Given the description of an element on the screen output the (x, y) to click on. 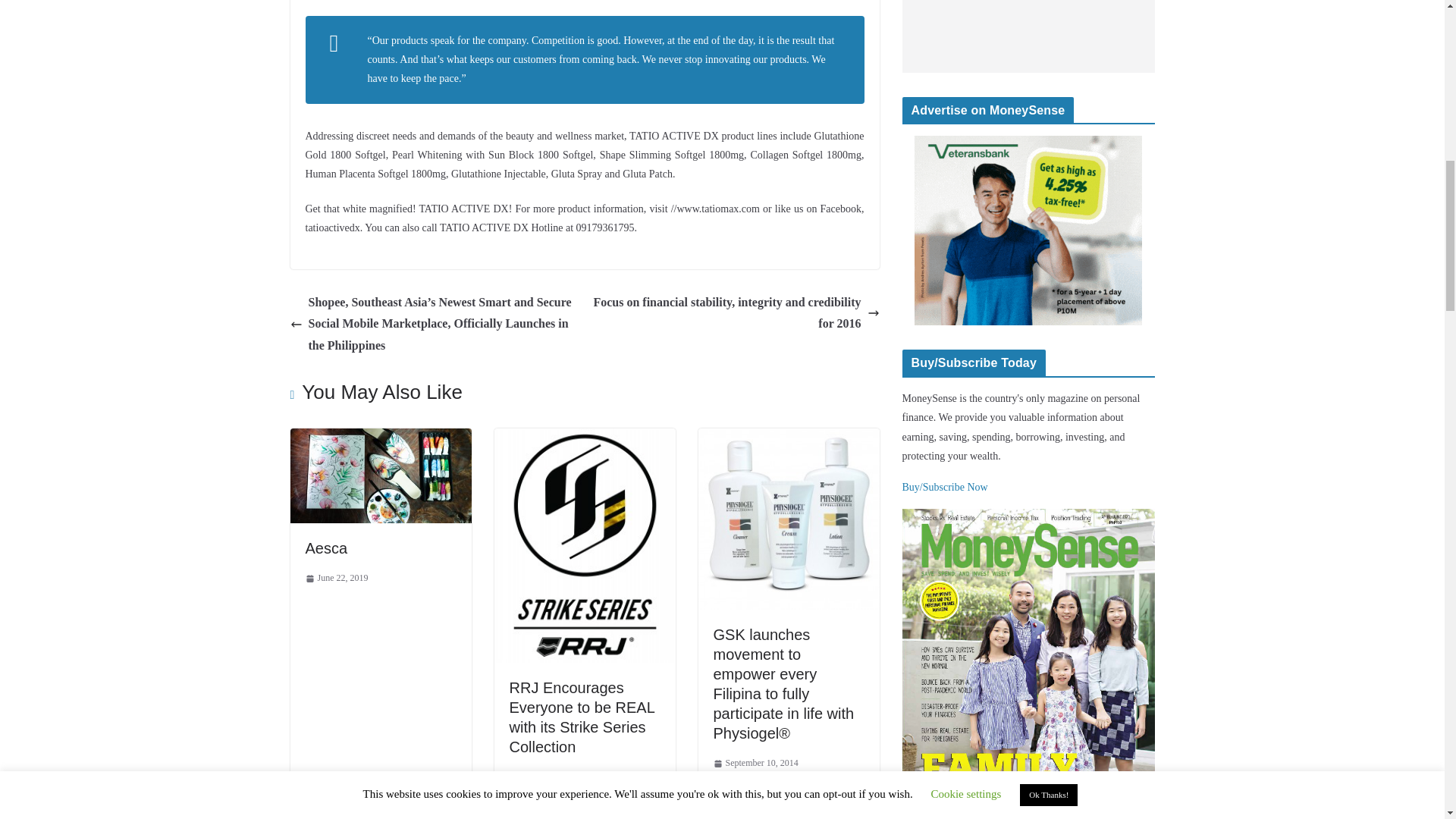
October 28, 2015 (547, 777)
11:49 pm (336, 578)
September 10, 2014 (755, 763)
Aesca (325, 547)
Aesca (379, 438)
Aesca (325, 547)
June 22, 2019 (336, 578)
